Given the description of an element on the screen output the (x, y) to click on. 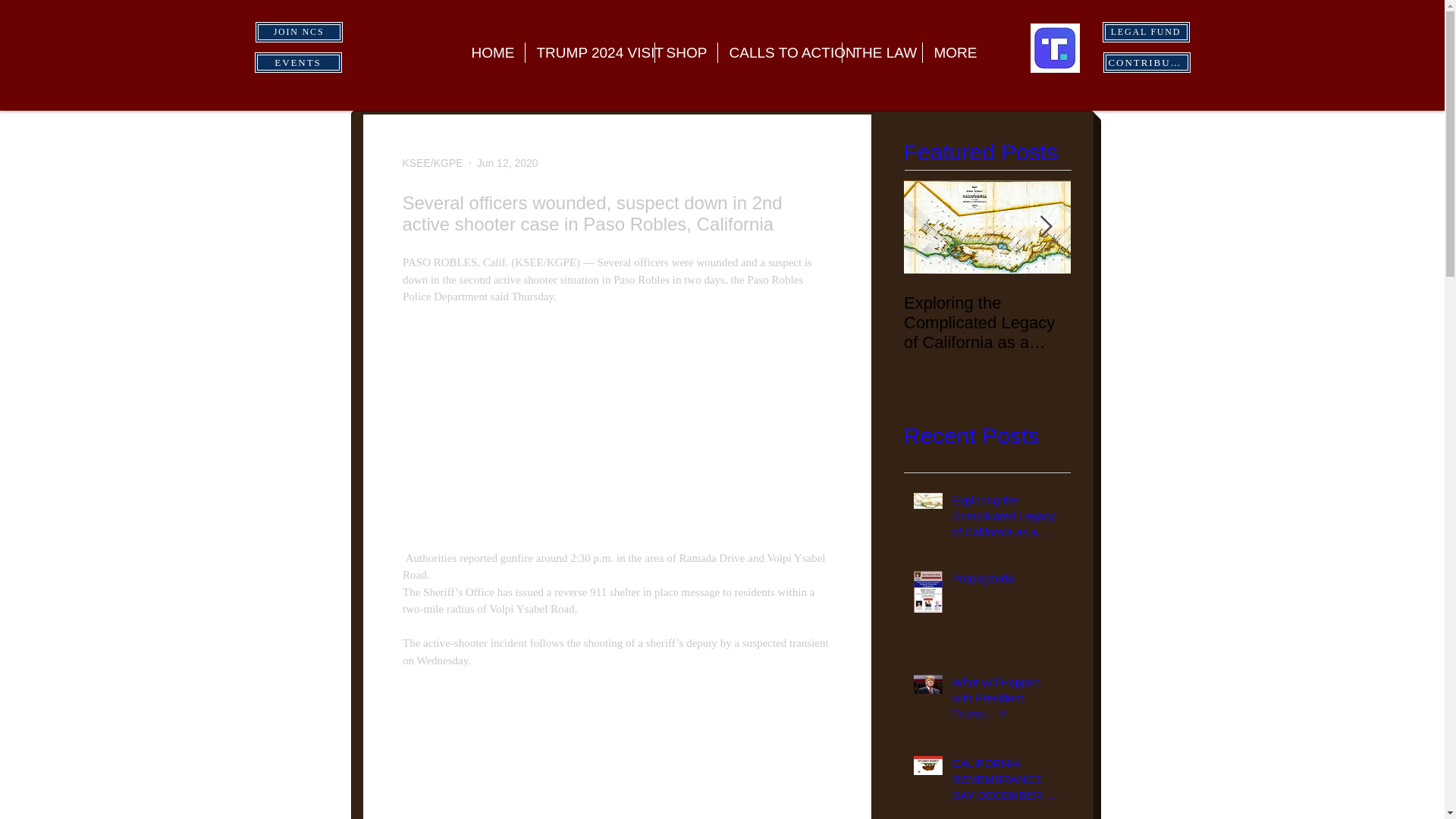
EVENTS (298, 62)
THE LAW (881, 52)
CALLS TO ACTION (779, 52)
TRUMP 2024 VISIT (588, 52)
SHOP (686, 52)
Jun 12, 2020 (507, 162)
JOIN NCS (298, 32)
HOME (492, 52)
